Given the description of an element on the screen output the (x, y) to click on. 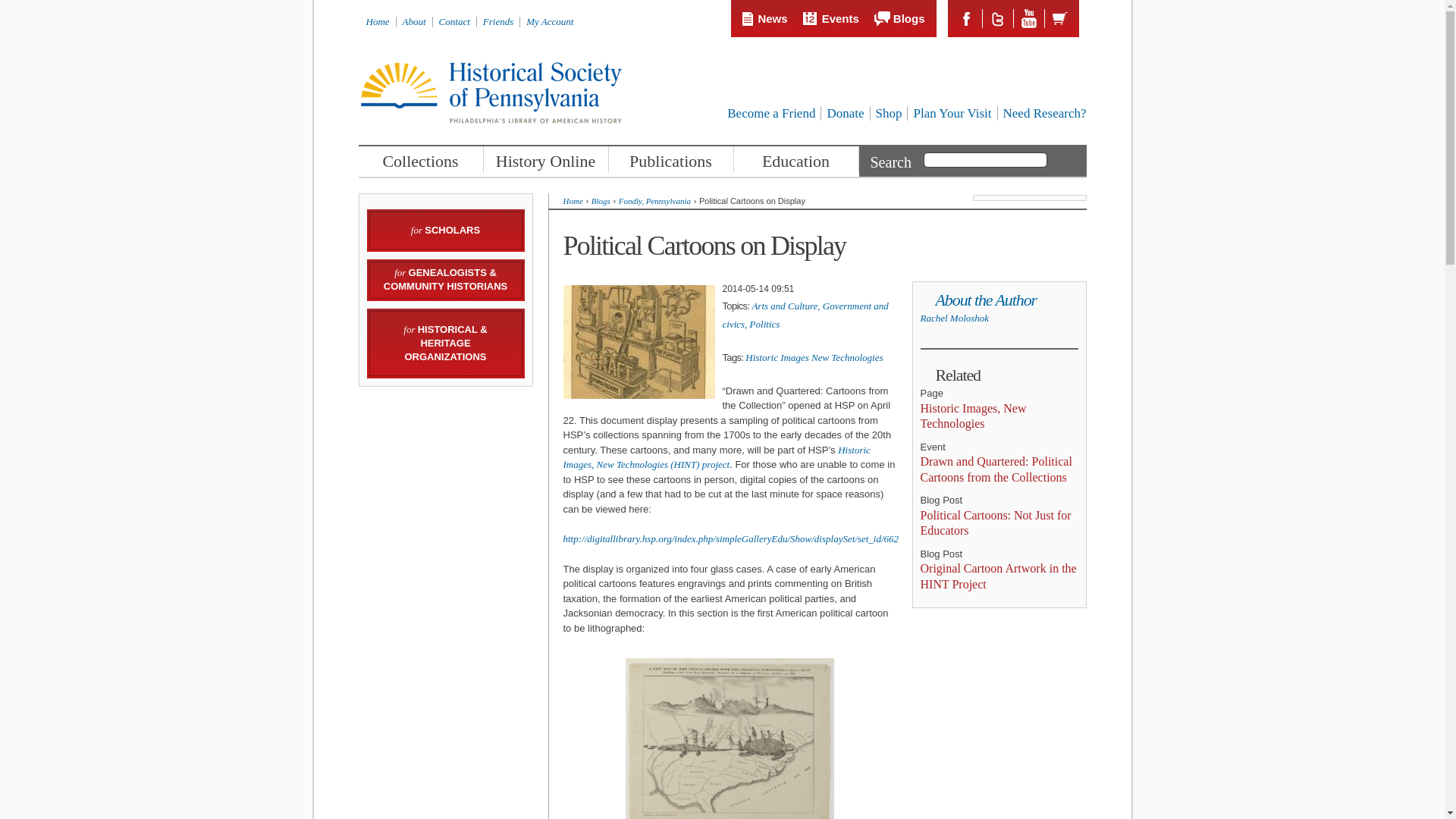
Friends (498, 21)
Donate (845, 113)
Skip to main content (691, 1)
My Account (549, 21)
Become a Friend (770, 113)
Contact (454, 21)
Events (831, 18)
Home (376, 21)
Search (1058, 160)
Blogs (899, 18)
Collections (420, 159)
News (764, 18)
Need Research? (1044, 113)
About (414, 21)
Plan Your Visit (951, 113)
